Given the description of an element on the screen output the (x, y) to click on. 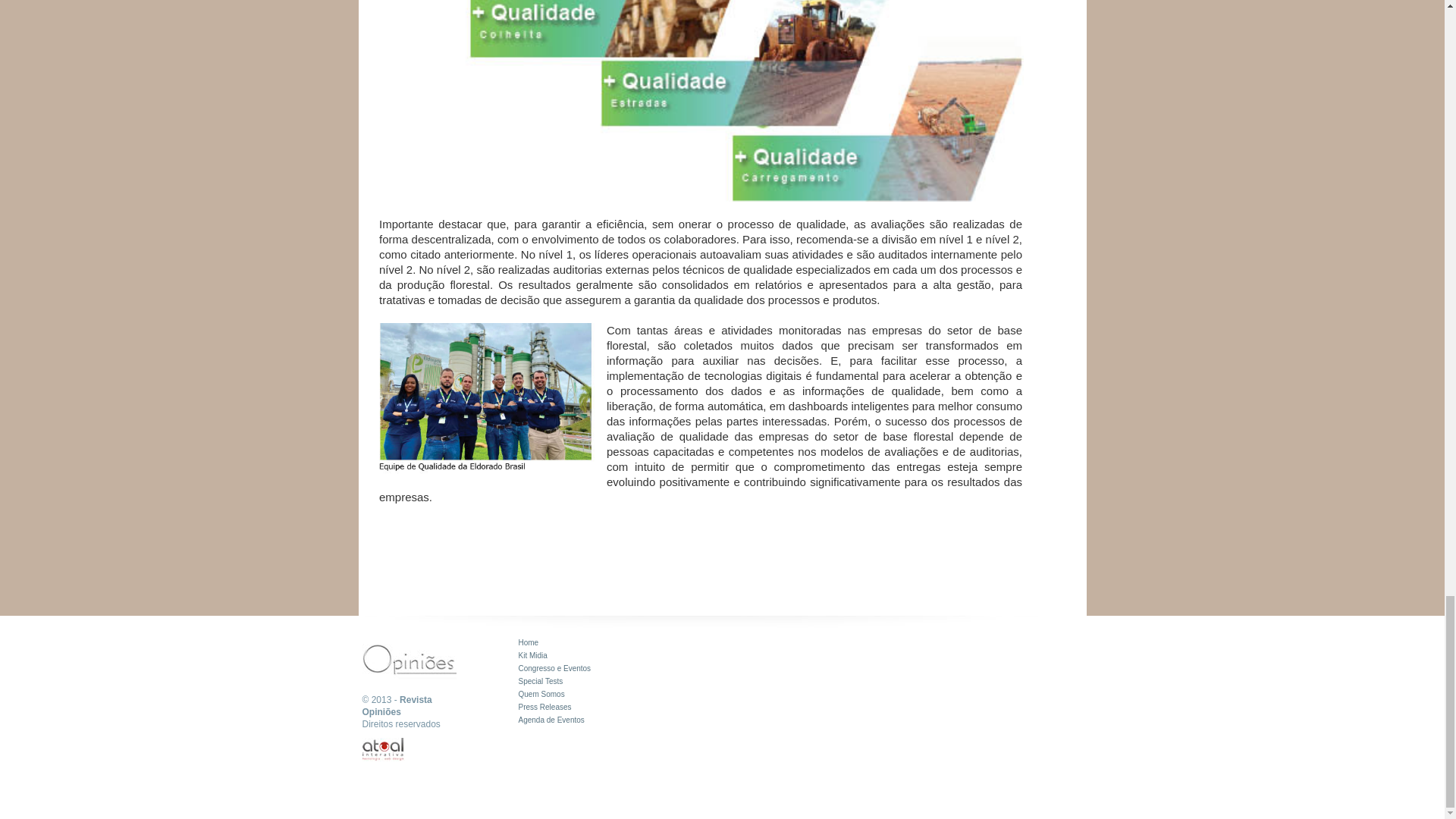
Direitos reservados (401, 724)
Home (528, 642)
atual interativa (383, 748)
